Given the description of an element on the screen output the (x, y) to click on. 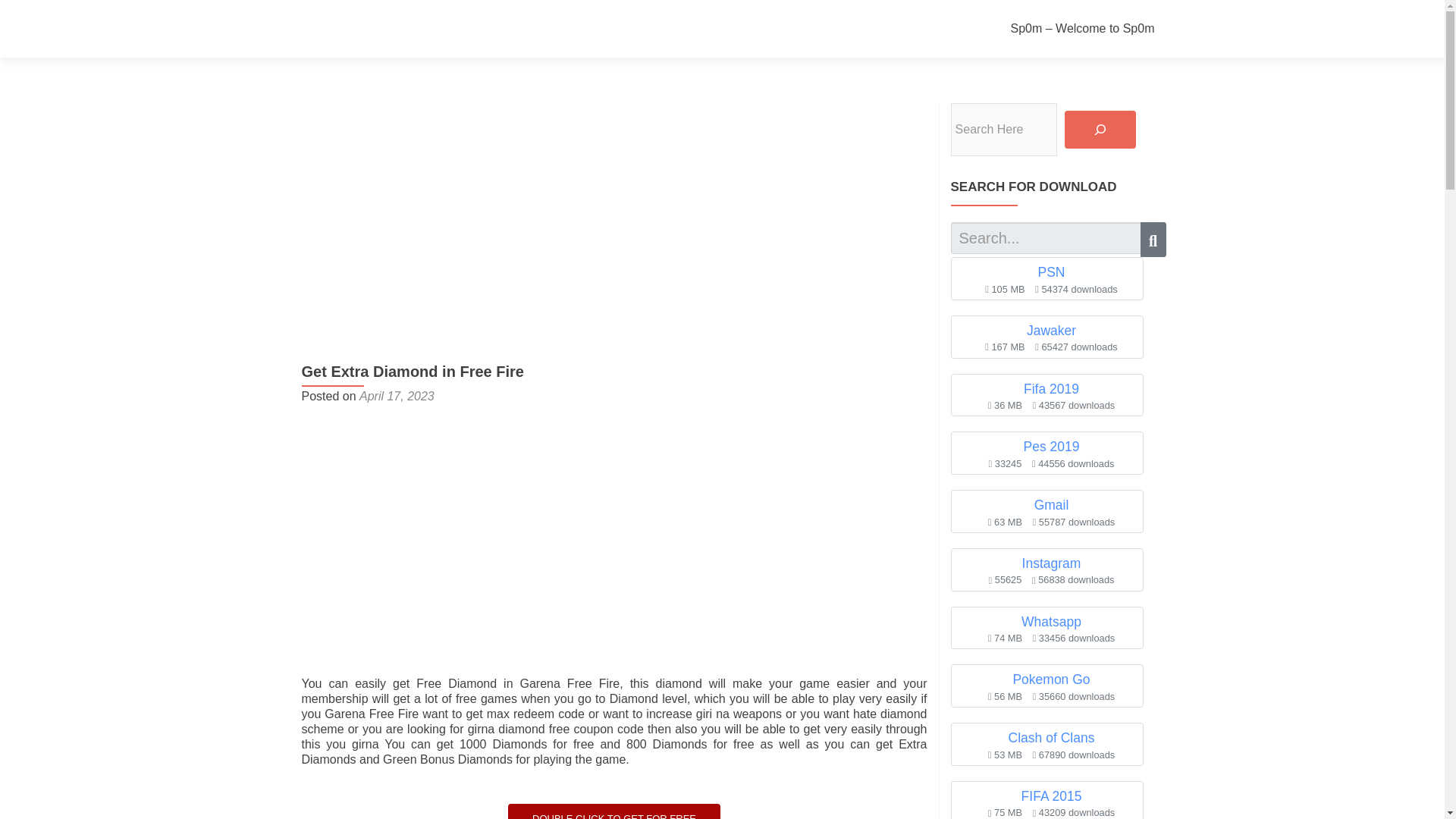
Pes 2019 (1051, 446)
Jawaker (1050, 330)
Clash of Clans (1051, 737)
PSN (1050, 272)
FIFA 2015 (1051, 795)
Instagram (1051, 563)
DOUBLE CLICK TO GET FOR FREE (614, 811)
Pokemon Go (1050, 679)
Gmail (1050, 504)
April 17, 2023 (396, 395)
